Given the description of an element on the screen output the (x, y) to click on. 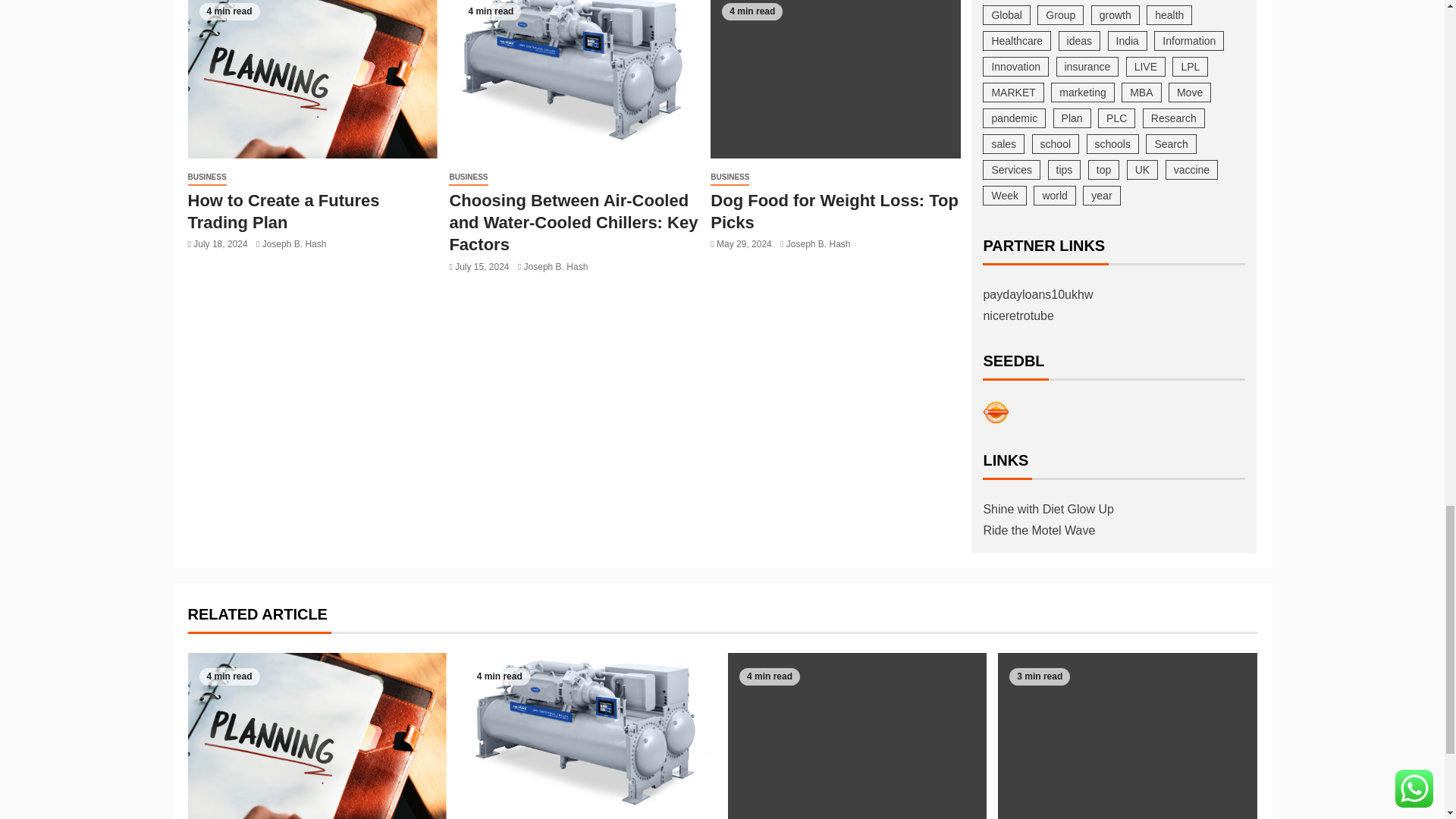
How to Create a Futures Trading Plan (312, 79)
